Given the description of an element on the screen output the (x, y) to click on. 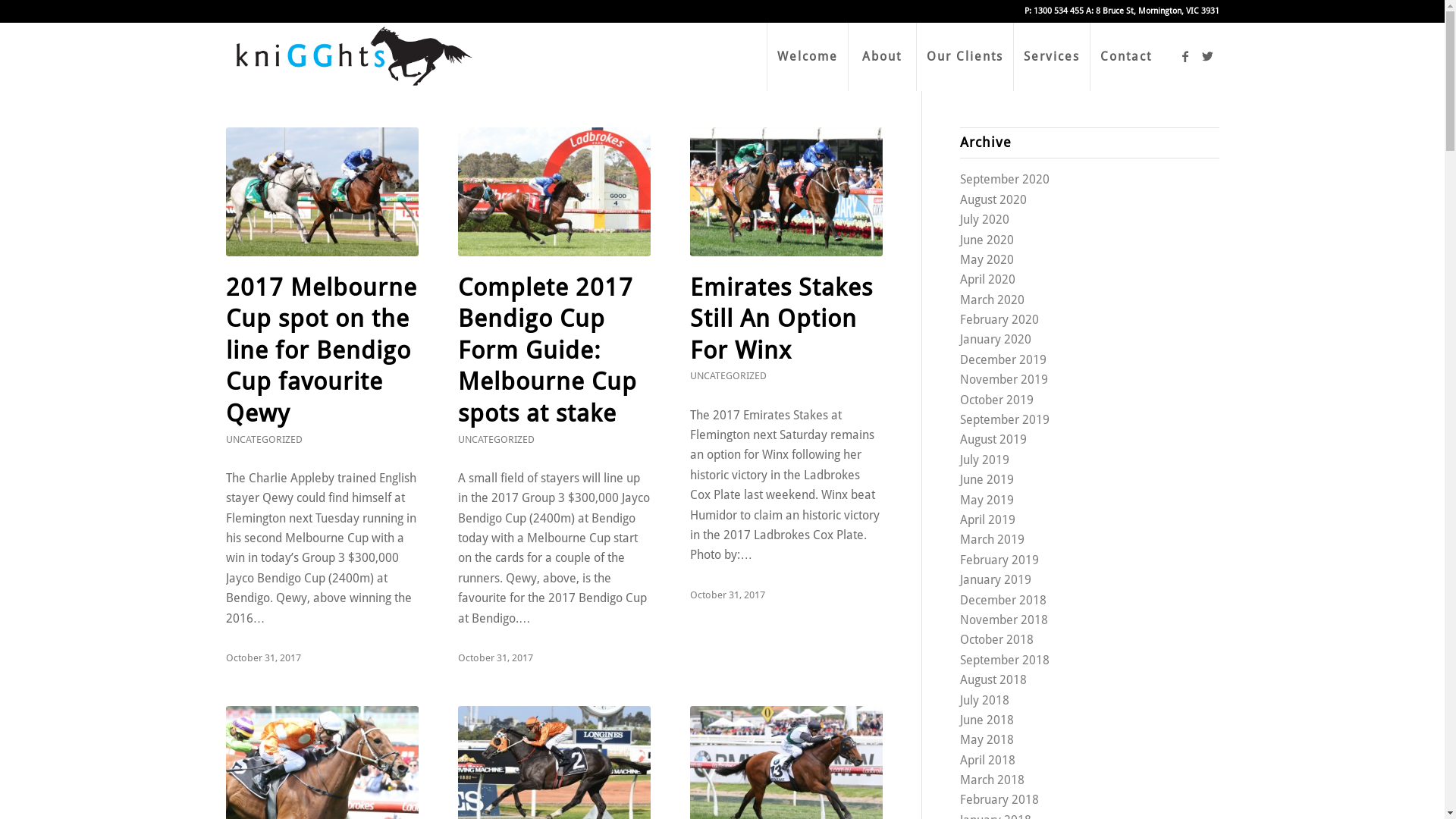
Facebook Element type: hover (1184, 55)
UNCATEGORIZED Element type: text (496, 439)
December 2019 Element type: text (1003, 359)
July 2020 Element type: text (984, 219)
About Element type: text (881, 56)
Services Element type: text (1051, 56)
March 2020 Element type: text (992, 299)
March 2018 Element type: text (992, 779)
September 2019 Element type: text (1004, 419)
May 2020 Element type: text (986, 259)
Contact Element type: text (1124, 56)
Welcome Element type: text (806, 56)
February 2019 Element type: text (999, 559)
September 2018 Element type: text (1004, 659)
May 2019 Element type: text (986, 499)
June 2019 Element type: text (986, 479)
February 2020 Element type: text (999, 319)
January 2019 Element type: text (995, 579)
Emirates Stakes Still An Option For Winx Element type: hover (786, 191)
June 2018 Element type: text (986, 719)
July 2018 Element type: text (984, 700)
Twitter Element type: hover (1207, 55)
August 2019 Element type: text (993, 439)
January 2020 Element type: text (995, 339)
November 2018 Element type: text (1004, 619)
April 2018 Element type: text (987, 760)
May 2018 Element type: text (986, 739)
April 2020 Element type: text (987, 279)
April 2019 Element type: text (987, 519)
October 2019 Element type: text (996, 399)
March 2019 Element type: text (992, 539)
September 2020 Element type: text (1004, 179)
October 2018 Element type: text (996, 639)
June 2020 Element type: text (986, 239)
Our Clients Element type: text (964, 56)
August 2018 Element type: text (993, 679)
UNCATEGORIZED Element type: text (263, 439)
December 2018 Element type: text (1003, 600)
July 2019 Element type: text (984, 459)
Emirates Stakes Still An Option For Winx Element type: text (781, 318)
UNCATEGORIZED Element type: text (728, 375)
February 2018 Element type: text (999, 799)
November 2019 Element type: text (1004, 379)
August 2020 Element type: text (993, 199)
